Given the description of an element on the screen output the (x, y) to click on. 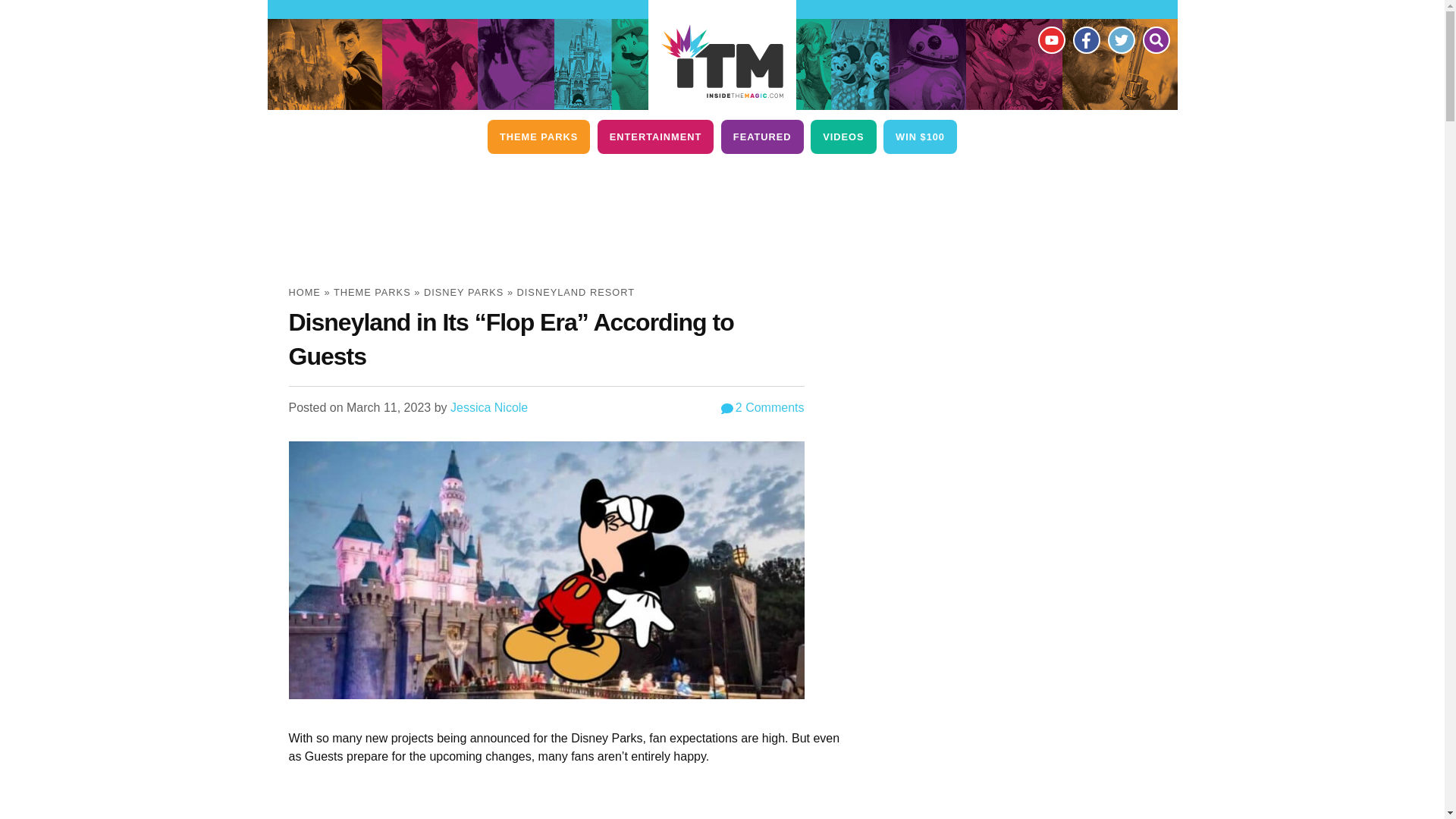
ENTERTAINMENT (655, 136)
FEATURED (761, 136)
Search (1155, 40)
Twitter (1120, 40)
YouTube (1050, 40)
Facebook (1085, 40)
THEME PARKS (538, 136)
